Given the description of an element on the screen output the (x, y) to click on. 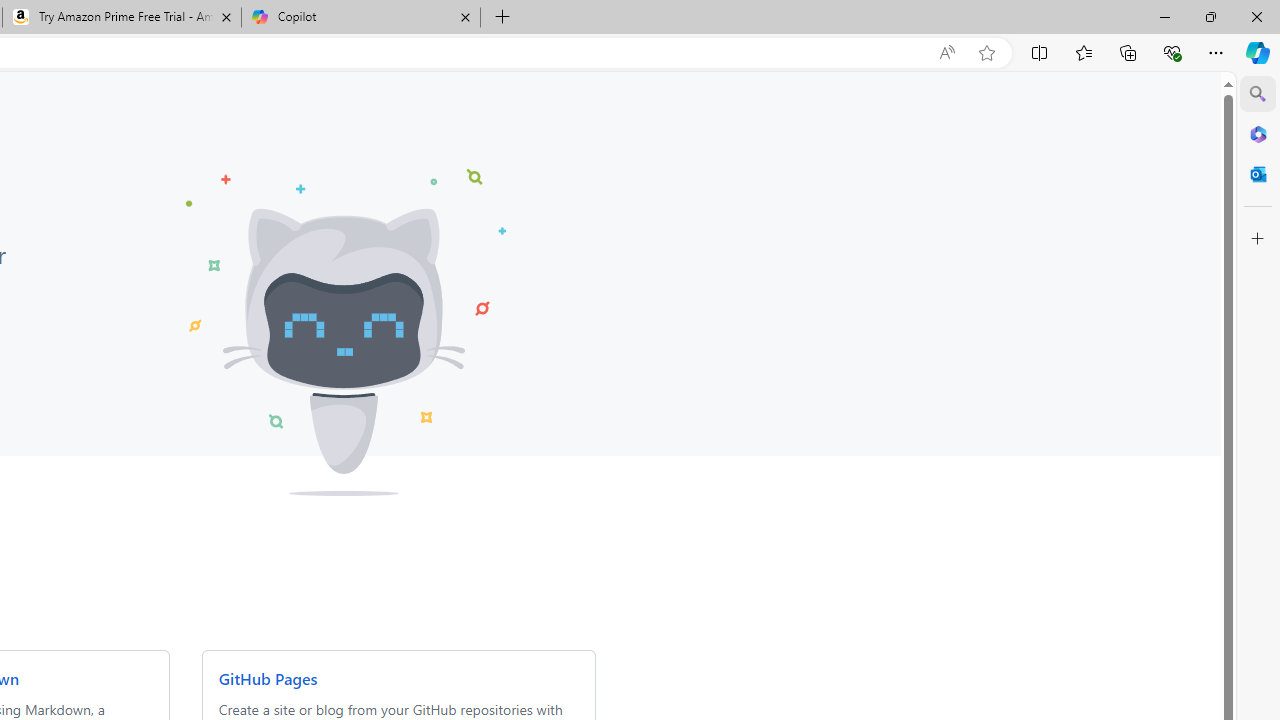
Close Outlook pane (1258, 174)
GitHub Pages (267, 678)
Customize (1258, 239)
